Given the description of an element on the screen output the (x, y) to click on. 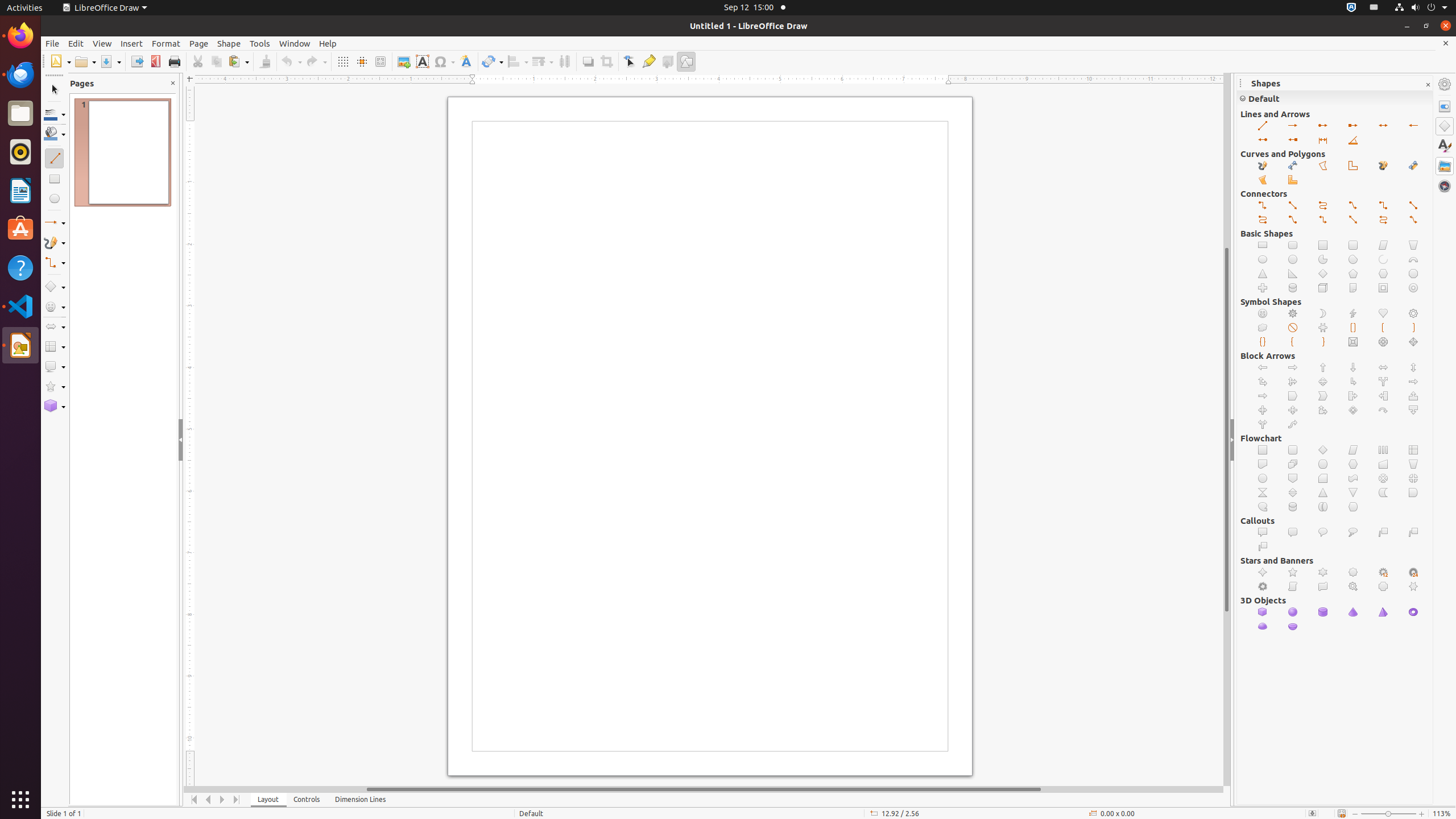
Ellipse Element type: list-item (1262, 259)
Shapes Element type: radio-button (1444, 126)
Prohibited Element type: list-item (1292, 327)
Ring Element type: list-item (1413, 287)
Lightning Bolt Element type: list-item (1353, 313)
